Given the description of an element on the screen output the (x, y) to click on. 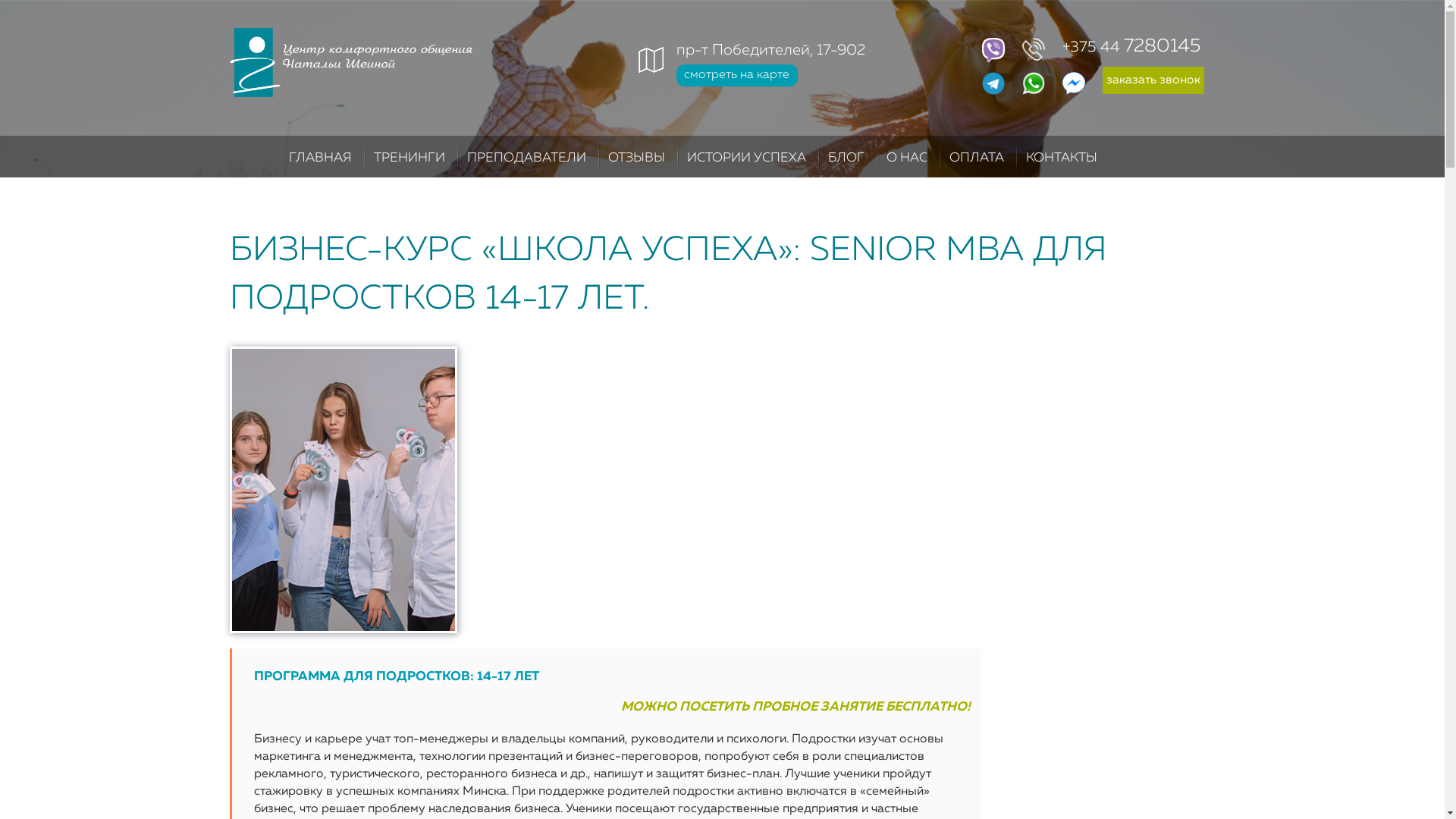
+375 44 7280145 Element type: text (1092, 46)
